Given the description of an element on the screen output the (x, y) to click on. 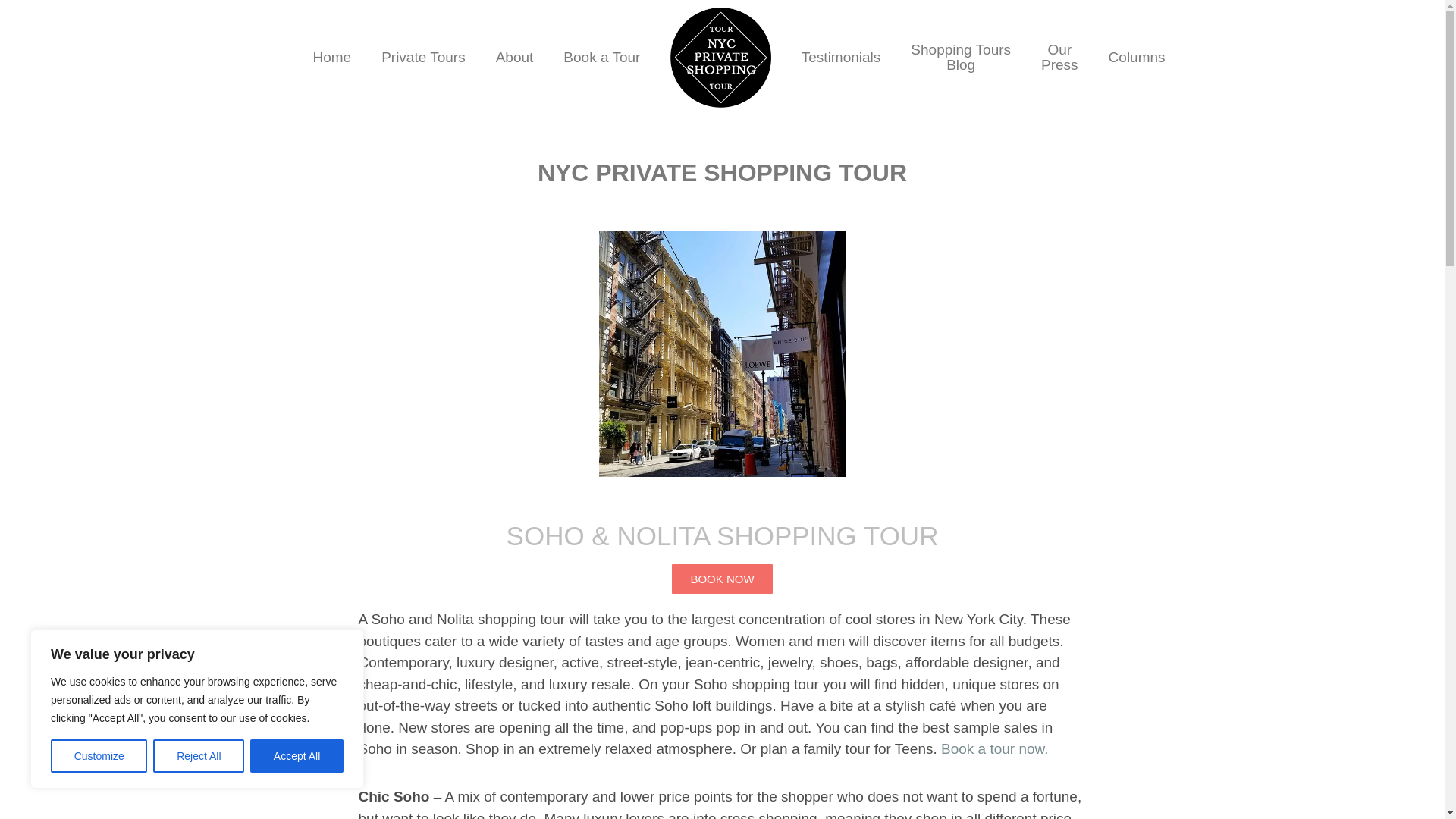
Private Tours (960, 57)
Home (423, 57)
Reject All (331, 57)
Columns (198, 756)
About (1059, 57)
Testimonials (1136, 57)
Book a Tour (514, 57)
Accept All (841, 57)
Customize (601, 57)
